Given the description of an element on the screen output the (x, y) to click on. 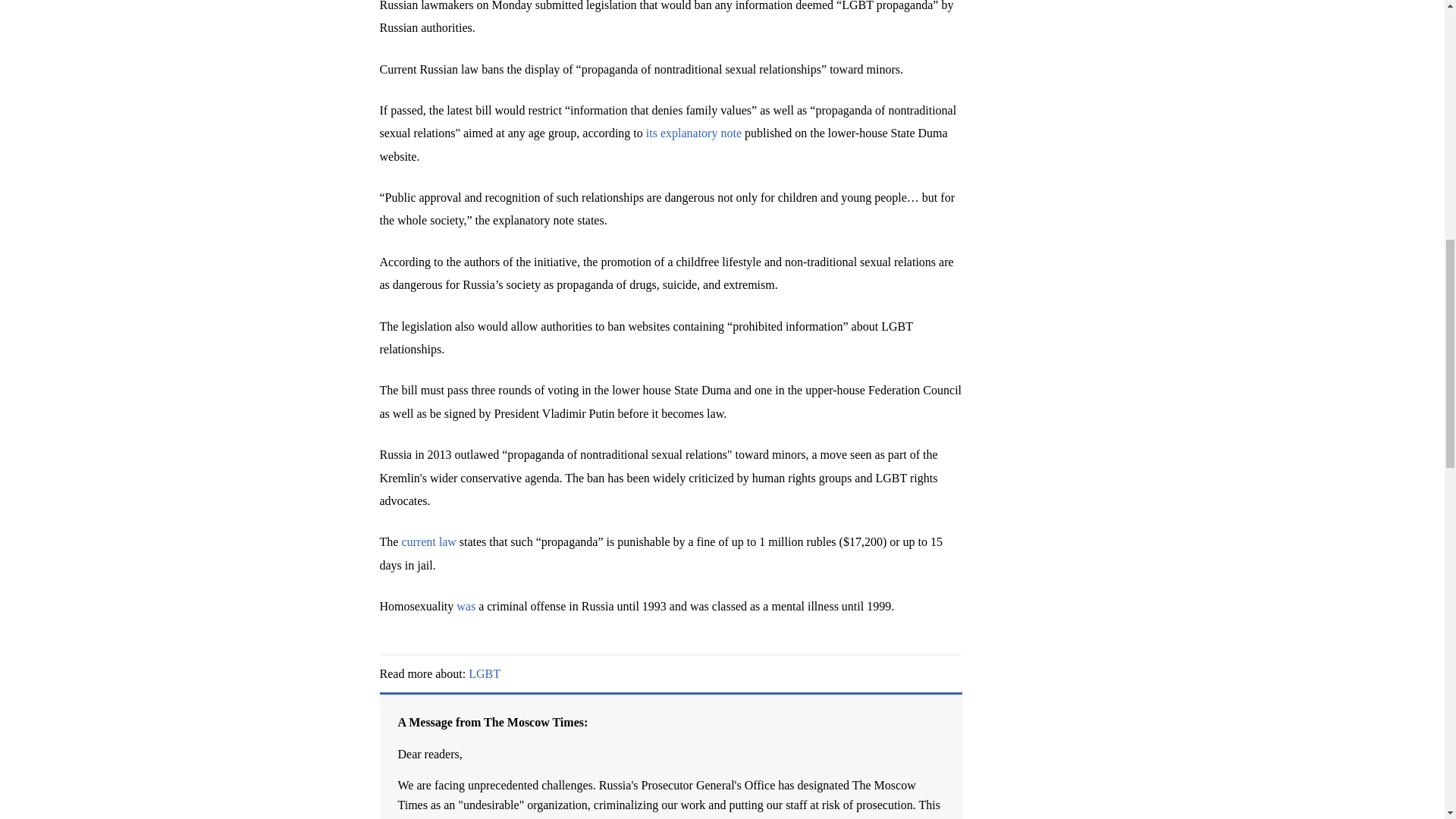
LGBT (484, 673)
